Given the description of an element on the screen output the (x, y) to click on. 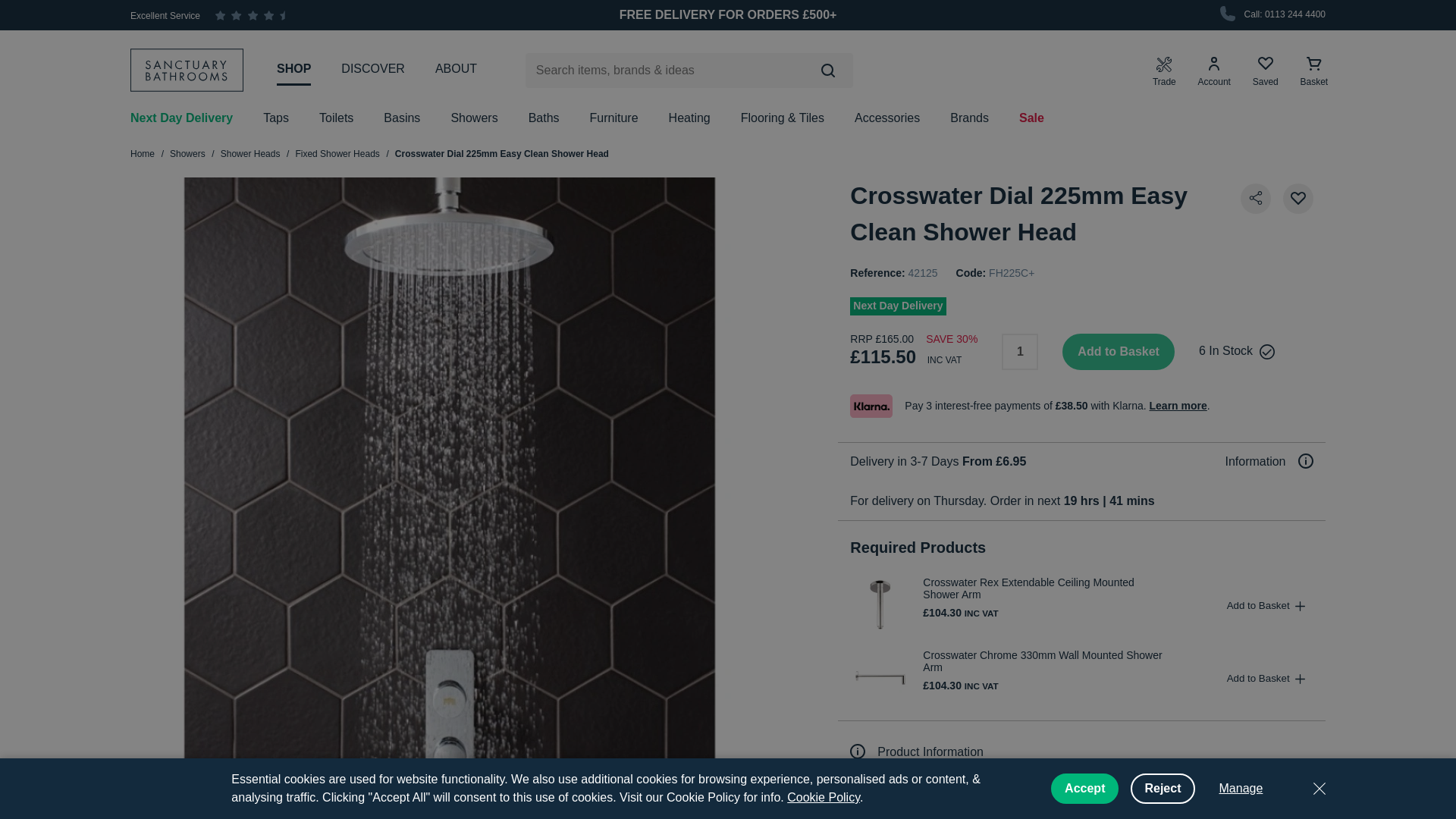
Trade (1164, 71)
Toilets (335, 118)
1 (1019, 351)
DISCOVER (372, 68)
Trade (1164, 71)
Basket (1314, 71)
Account (1214, 71)
Saved Items (1265, 71)
Next Day Delivery (181, 118)
Saved (1265, 71)
